Given the description of an element on the screen output the (x, y) to click on. 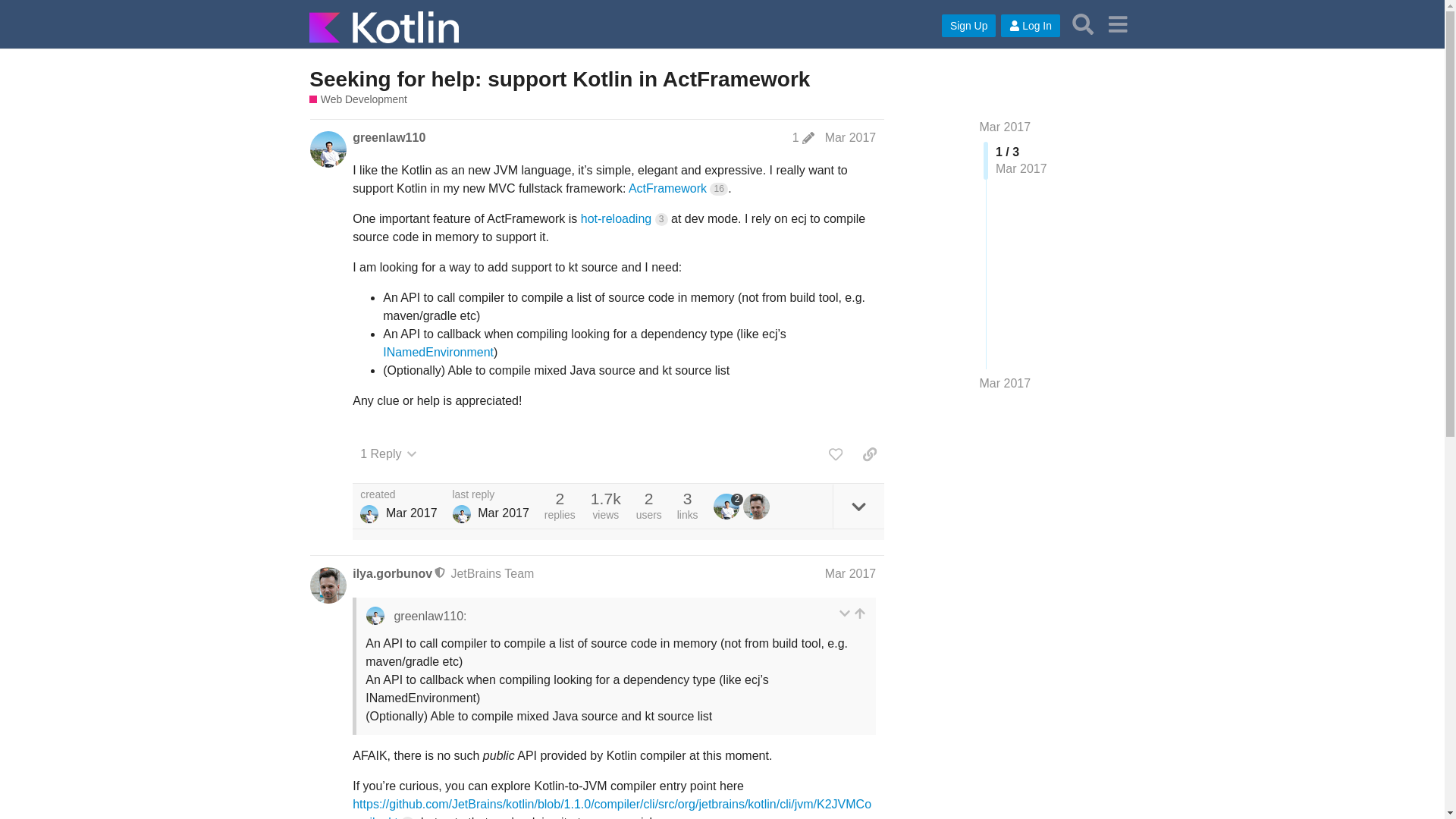
Jump to the first post (1004, 126)
menu (1117, 23)
ilya.gorbunov (392, 573)
16 clicks (719, 188)
1 (802, 137)
INamedEnvironment (437, 351)
Web Development (357, 99)
hot-reloading 3 (624, 218)
3 clicks (661, 219)
copy a link to this post to clipboard (869, 453)
JetBrains Team (491, 573)
Mar 2017 (1004, 126)
Sign Up (968, 25)
Post date (850, 137)
1 Reply (387, 453)
